Given the description of an element on the screen output the (x, y) to click on. 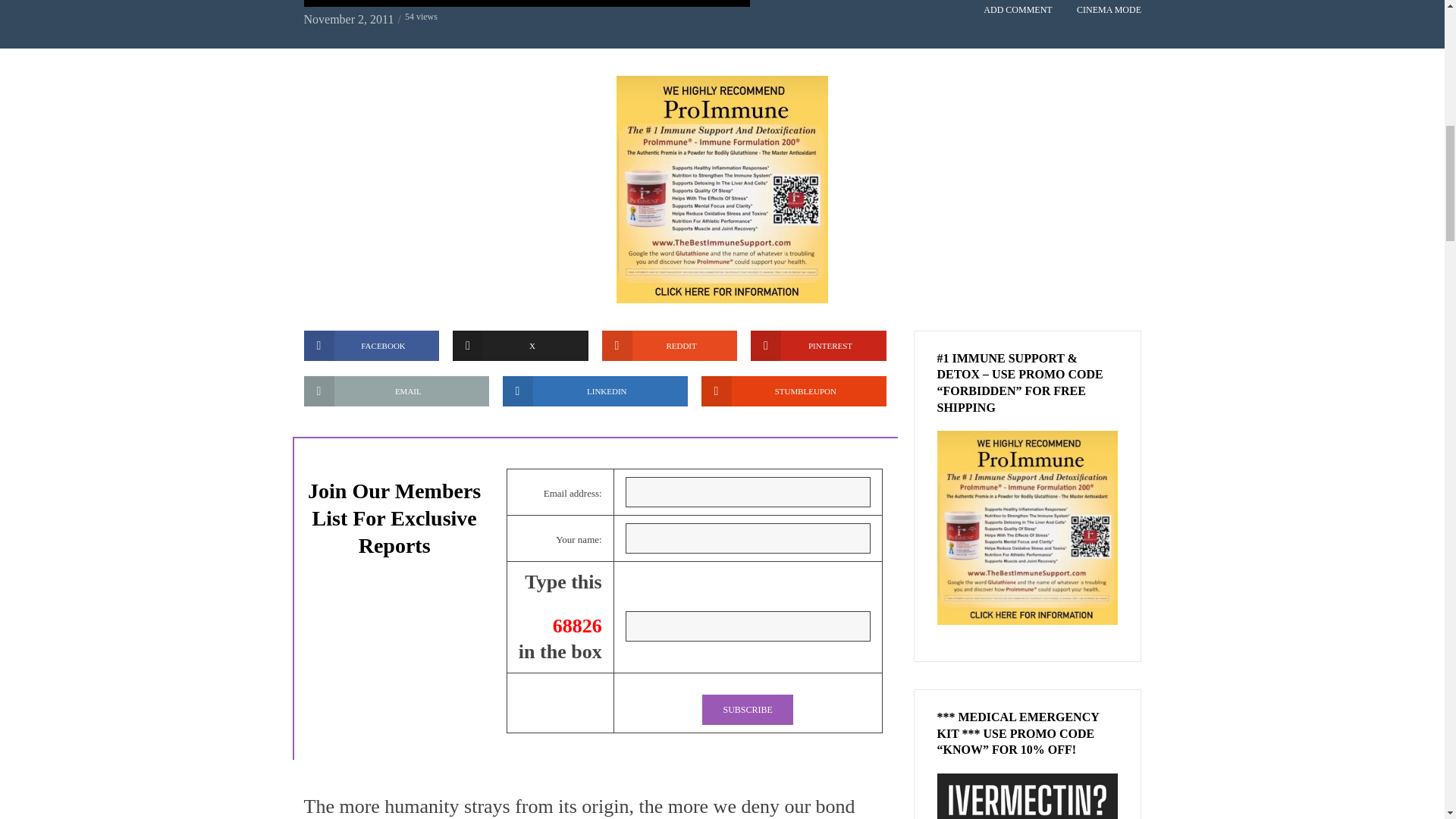
X (520, 345)
PINTEREST (818, 345)
REDDIT (670, 345)
Subscribe (746, 709)
EMAIL (394, 390)
ADD COMMENT (1017, 15)
LINKEDIN (594, 390)
CINEMA MODE (1108, 15)
FACEBOOK (370, 345)
